Given the description of an element on the screen output the (x, y) to click on. 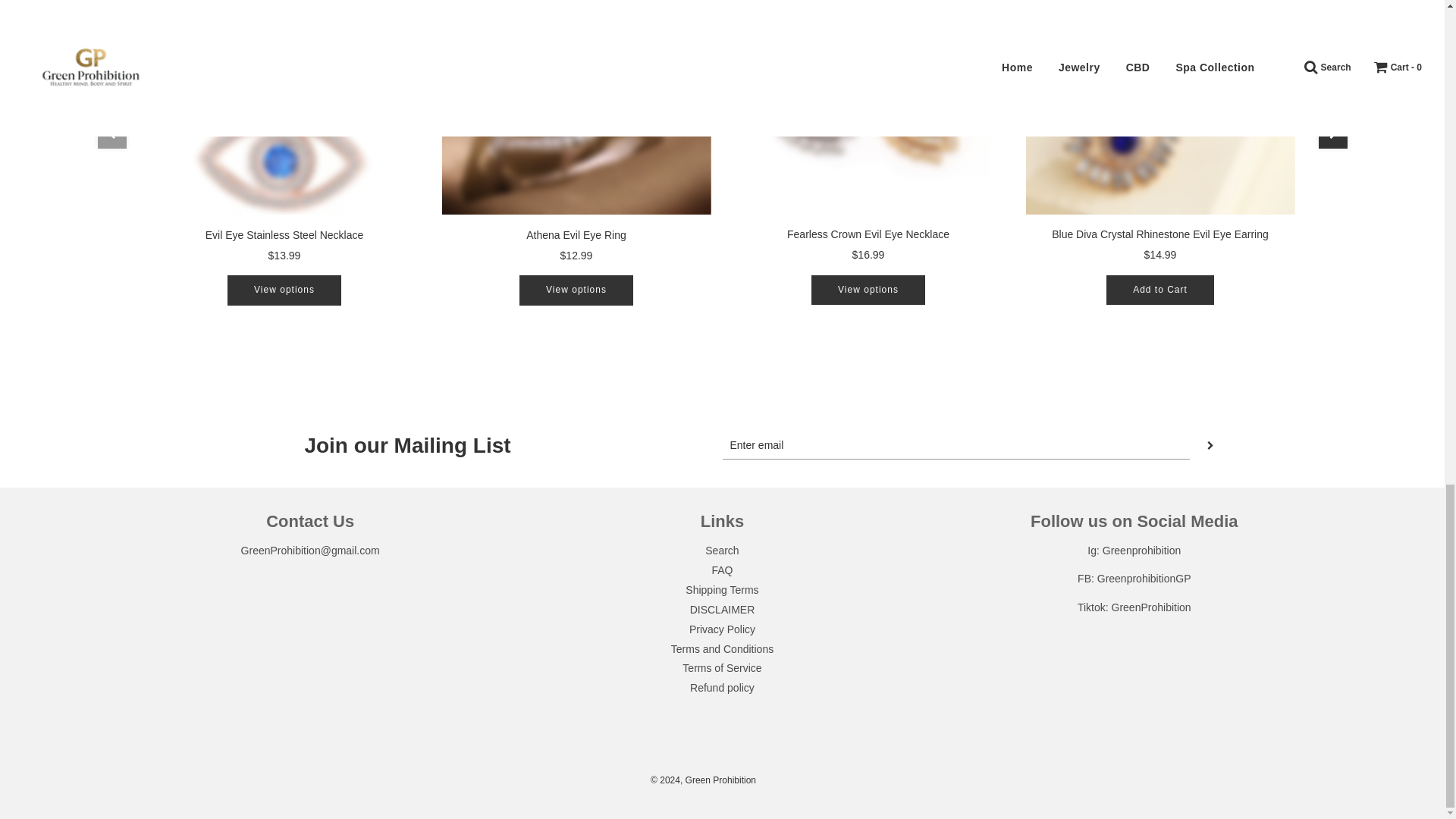
Evil Eye Stainless Steel Necklace (284, 113)
Athena Evil Eye Ring (575, 113)
Athena Evil Eye Ring (575, 234)
Blue Diva Crystal Rhinestone Evil Eye Earring (1159, 113)
Fearless Crown Evil Eye Necklace (868, 234)
Evil Eye Stainless Steel Necklace (284, 234)
View options (283, 289)
Fearless Crown Evil Eye Necklace (868, 113)
View options (576, 289)
